Given the description of an element on the screen output the (x, y) to click on. 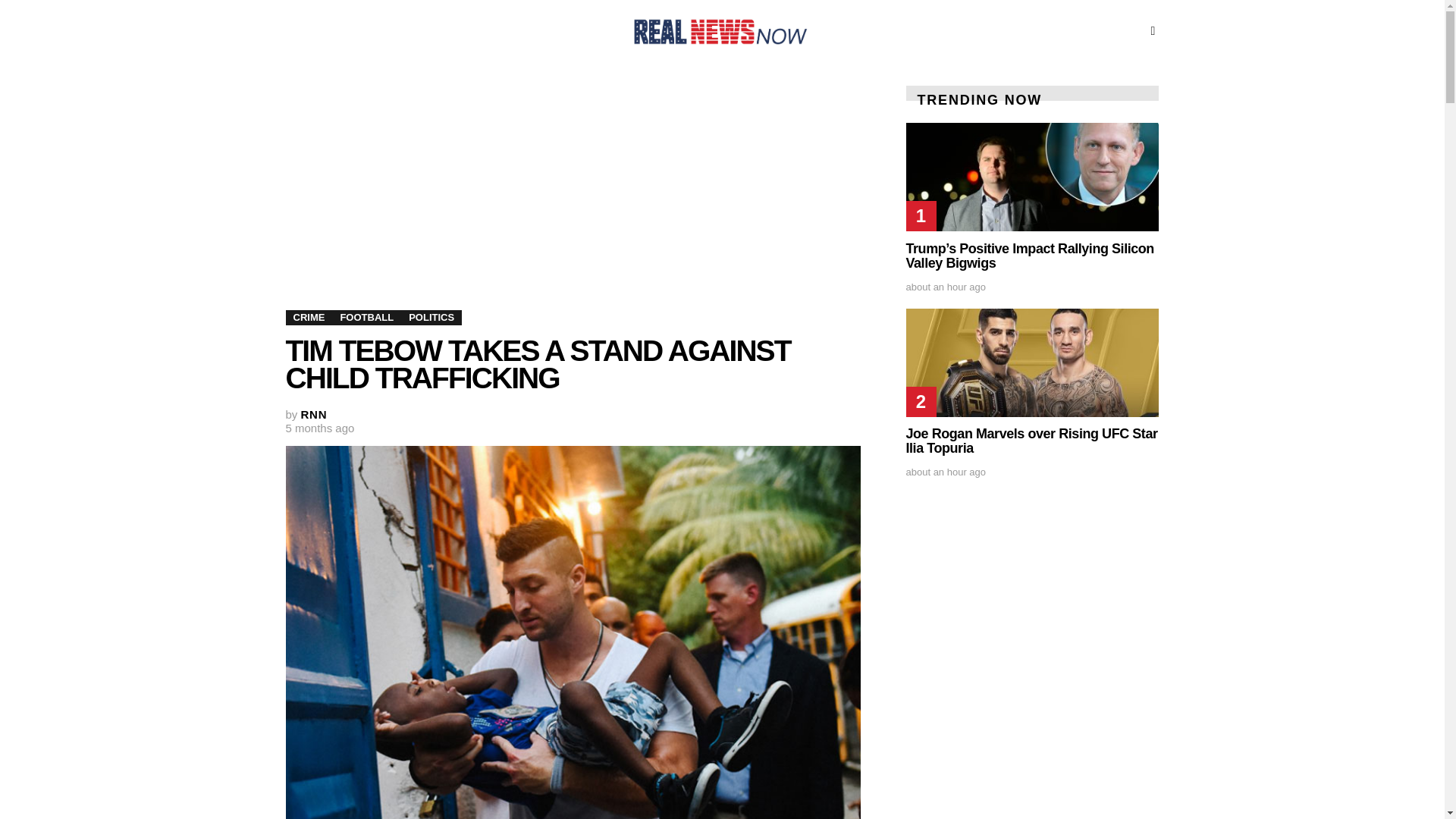
Posts by RNN (314, 413)
CRIME (308, 317)
POLITICS (431, 317)
FOOTBALL (366, 317)
RNN (314, 413)
March 20, 2024, 9:52 pm (319, 427)
